Given the description of an element on the screen output the (x, y) to click on. 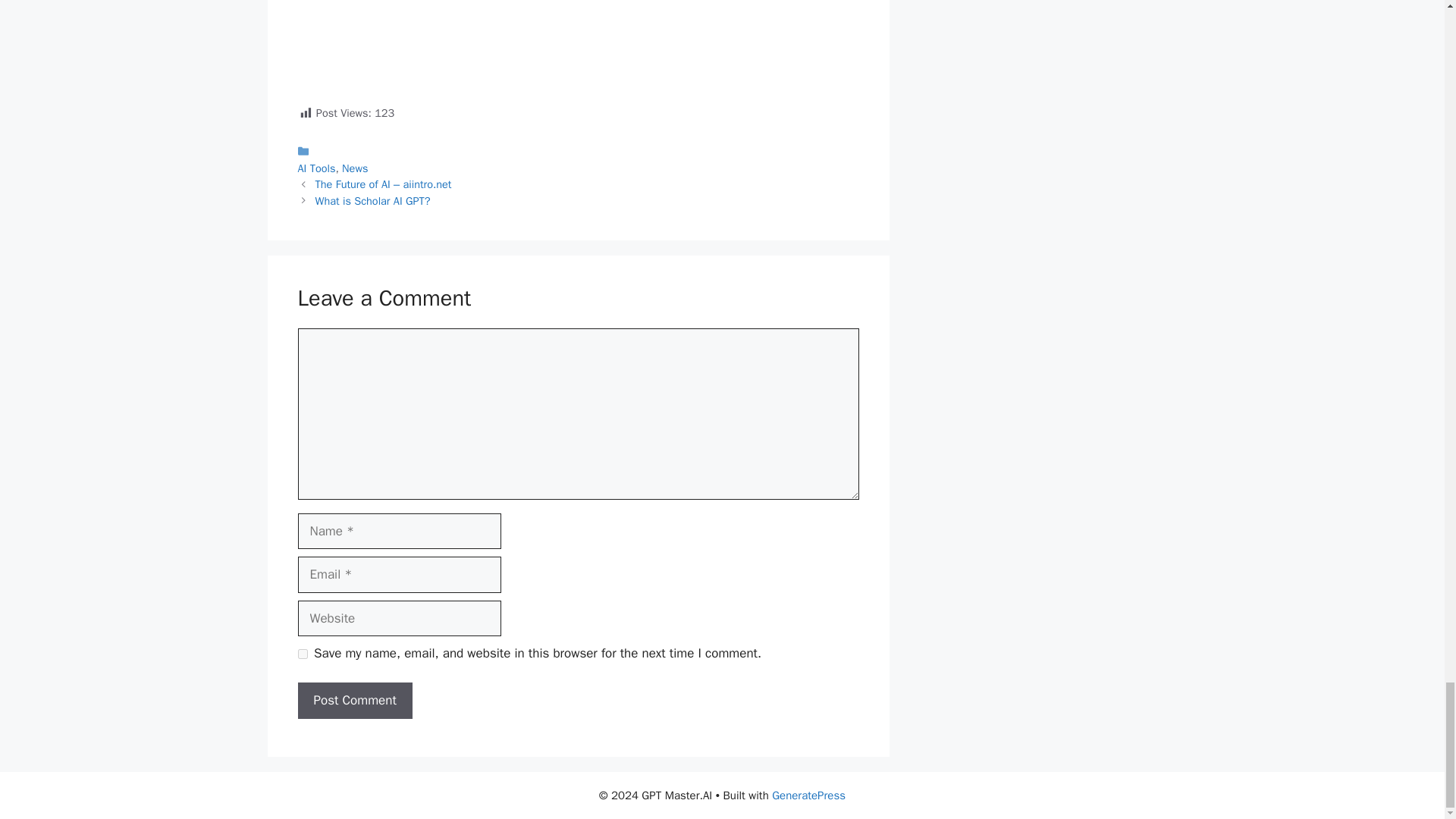
yes (302, 654)
Categories (578, 159)
Post Comment (354, 700)
AI Tools (315, 168)
Post Views: 123 (578, 61)
